Given the description of an element on the screen output the (x, y) to click on. 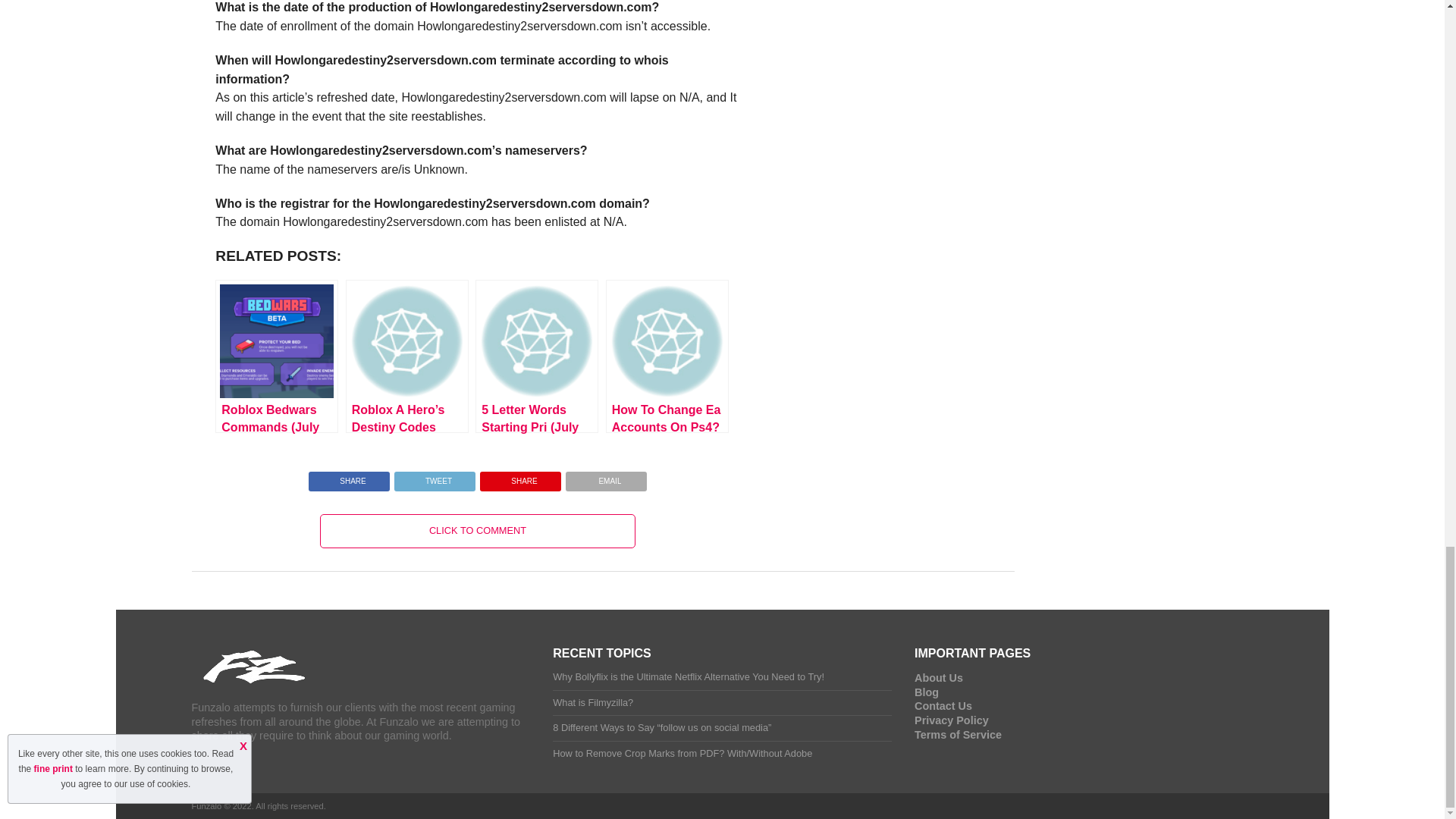
SHARE (349, 477)
TWEET (434, 477)
Pin This Post (520, 477)
Share on Facebook (349, 477)
SHARE (520, 477)
EMAIL (605, 477)
Tweet This Post (434, 477)
